Given the description of an element on the screen output the (x, y) to click on. 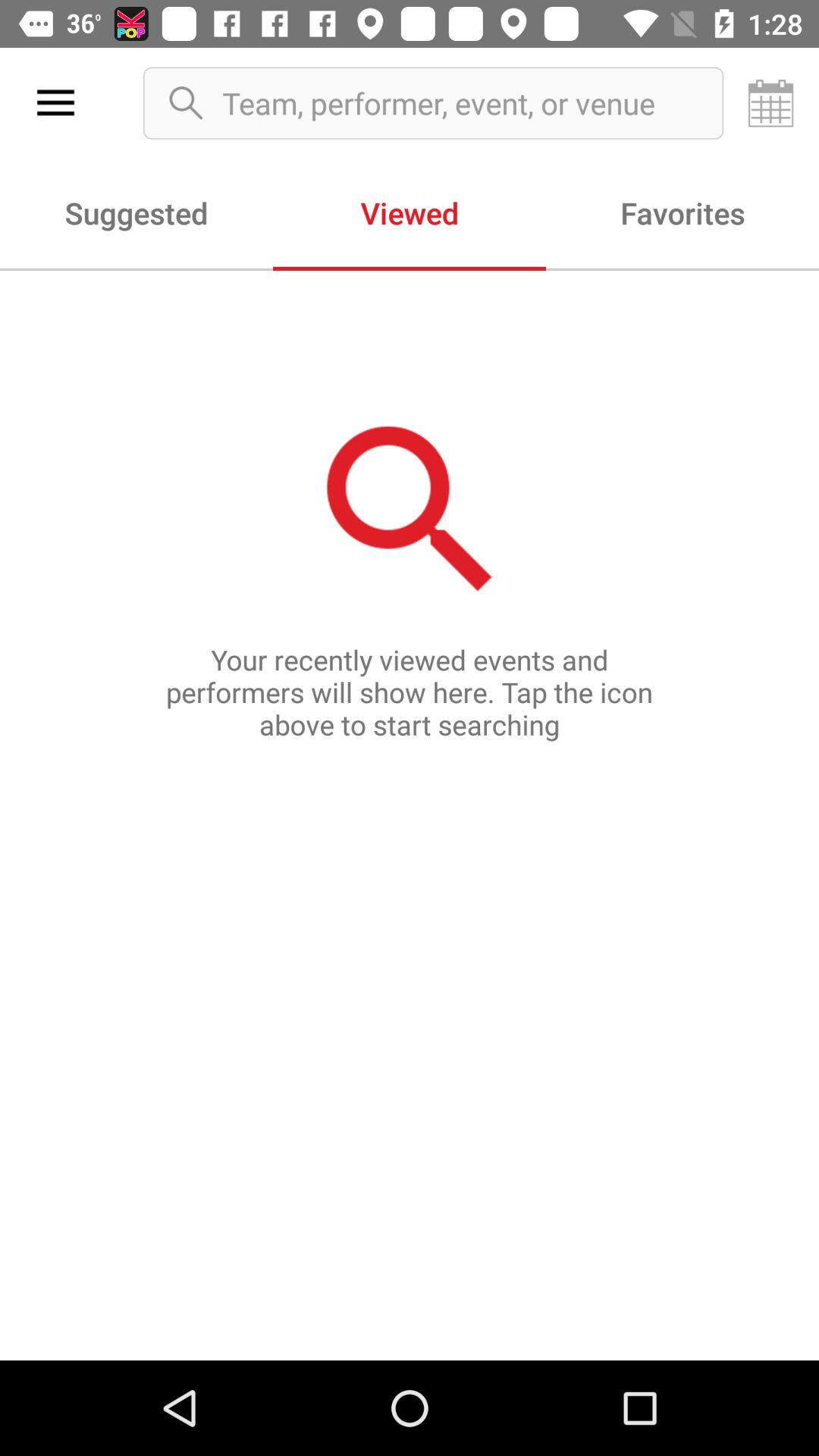
click the item next to team performer event icon (771, 103)
